Given the description of an element on the screen output the (x, y) to click on. 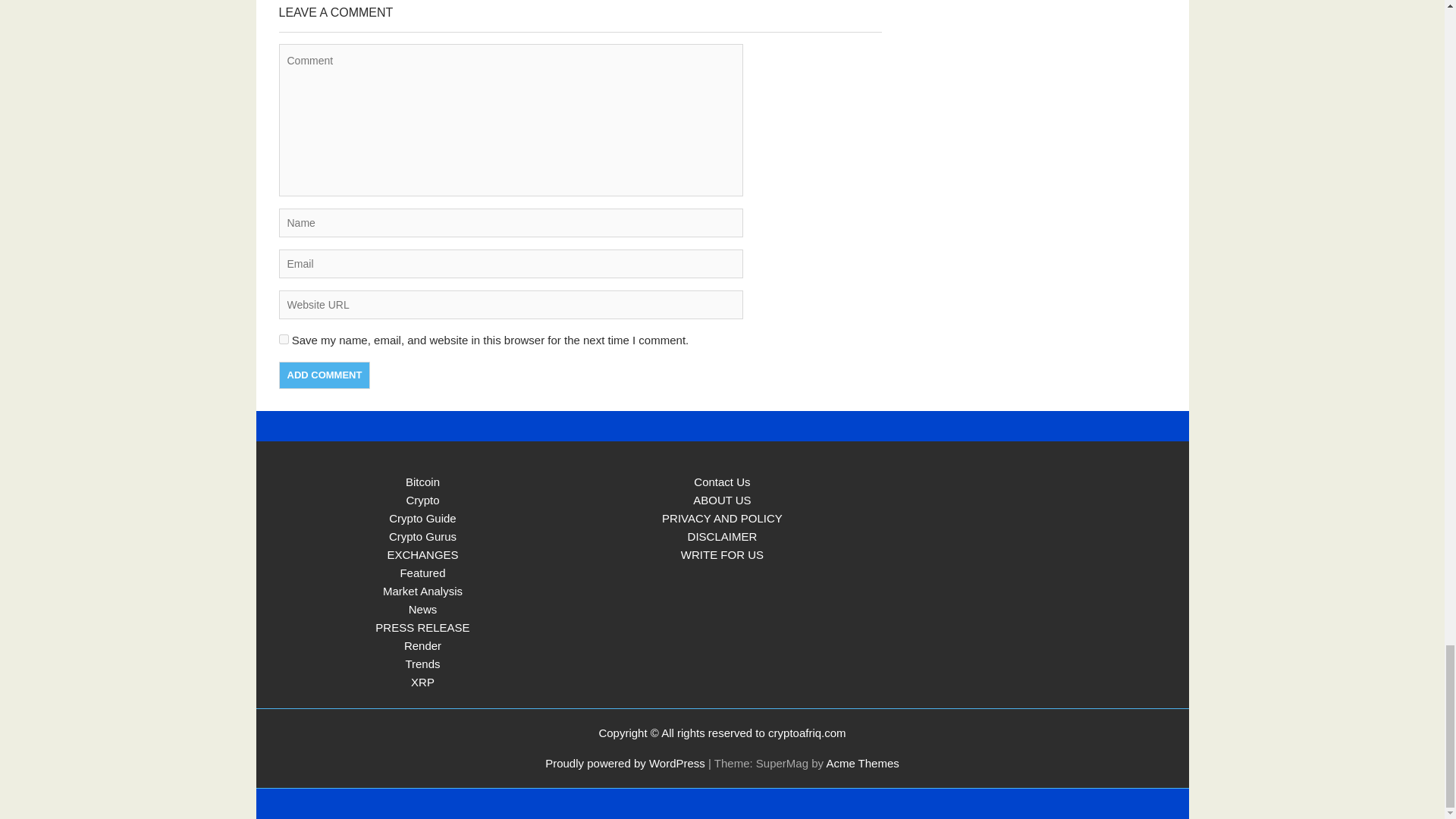
yes (283, 338)
Add Comment (325, 375)
